Given the description of an element on the screen output the (x, y) to click on. 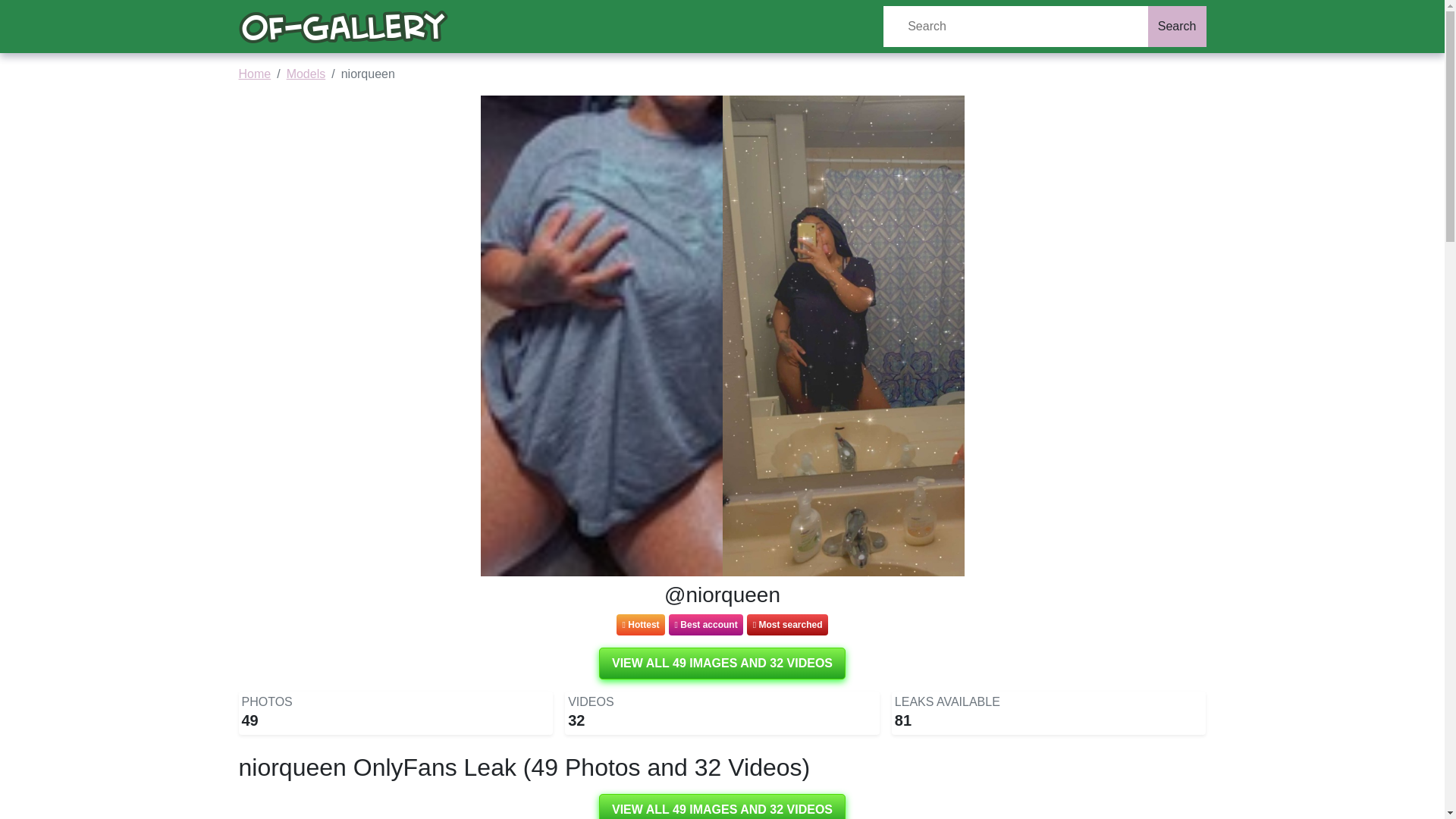
VIEW ALL 49 IMAGES AND 32 VIDEOS (721, 663)
Search (1177, 25)
Home (254, 73)
VIEW ALL 49 IMAGES AND 32 VIDEOS (721, 806)
Models (306, 73)
